Given the description of an element on the screen output the (x, y) to click on. 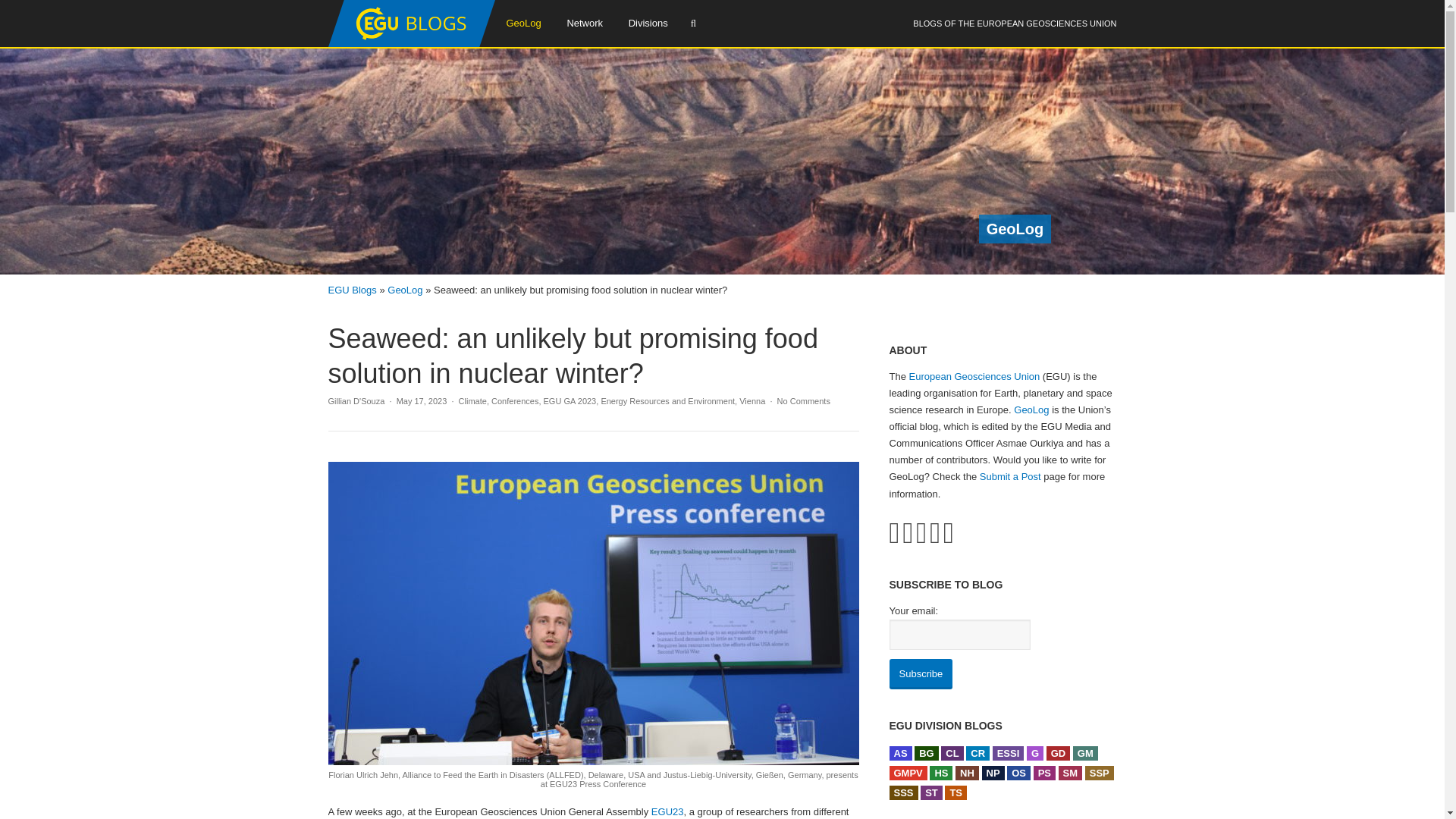
Find us on LinkedIn (935, 532)
Follow us on Facebook (907, 532)
Network (584, 22)
Find us on Instagram (948, 532)
EUROPEAN GEOSCIENCES UNION (1046, 22)
Follow us on Twitter (893, 532)
Find us on YouTube (920, 532)
GeoLog (523, 22)
EGU Blogs (411, 43)
Posts by Gillian D'Souza (355, 400)
Atmospheric Sciences (899, 753)
Divisions (648, 22)
Subscribe (920, 674)
